Given the description of an element on the screen output the (x, y) to click on. 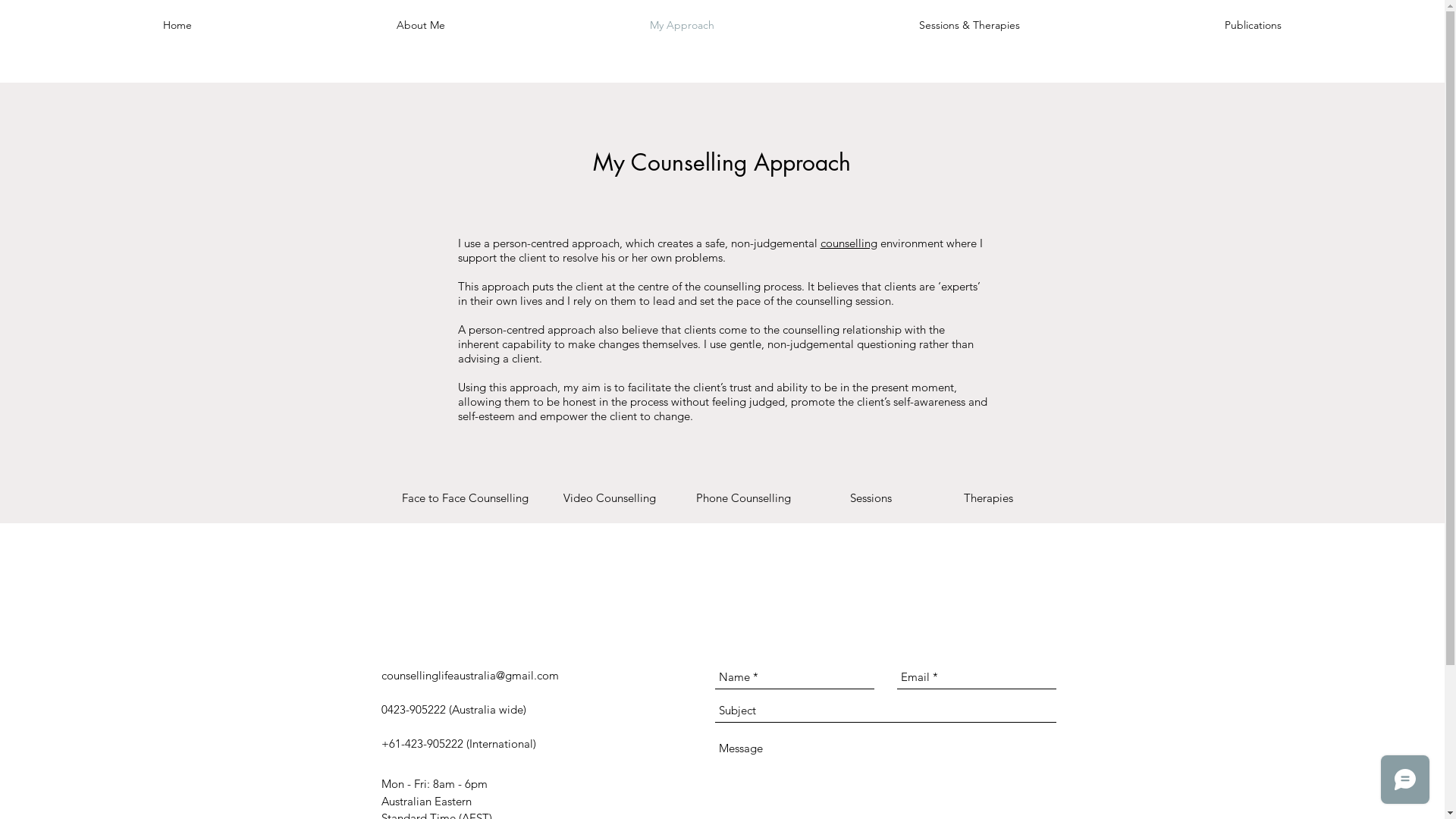
Sessions Element type: text (871, 497)
0423-905222 Element type: text (412, 709)
Phone Counselling Element type: text (743, 497)
counsellinglifeaustralia@gmail.com Element type: text (469, 675)
Publications Element type: text (1252, 24)
Home Element type: text (177, 24)
counselling Element type: text (848, 242)
+61-423-905222 Element type: text (421, 743)
My Approach Element type: text (681, 24)
Therapies Element type: text (987, 497)
Face to Face Counselling Element type: text (465, 497)
Video Counselling Element type: text (608, 497)
About Me Element type: text (420, 24)
Sessions & Therapies Element type: text (969, 24)
